Given the description of an element on the screen output the (x, y) to click on. 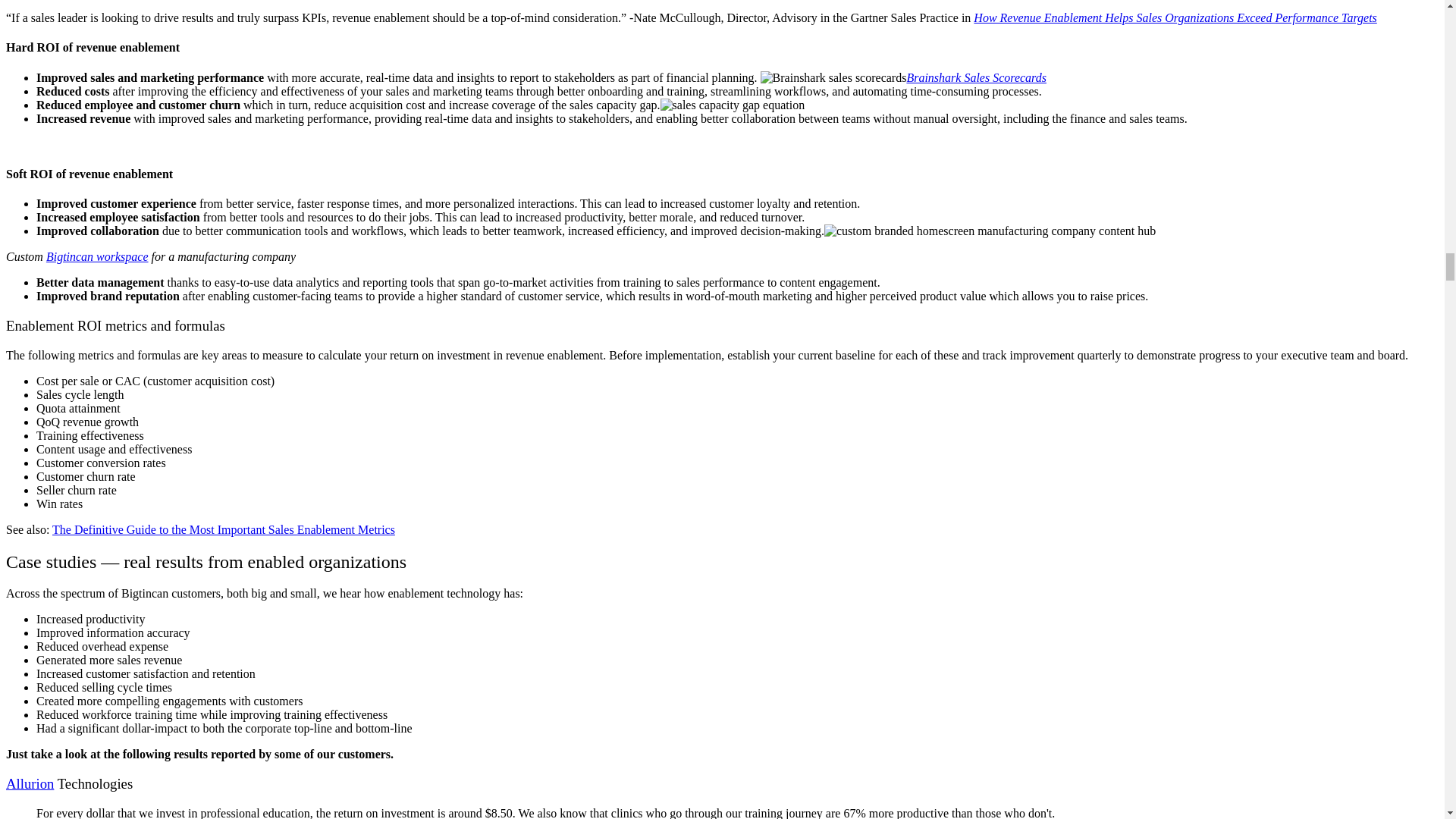
Allurion (29, 783)
Bigtincan workspace (97, 256)
Brainshark Sales Scorecards (975, 77)
